Given the description of an element on the screen output the (x, y) to click on. 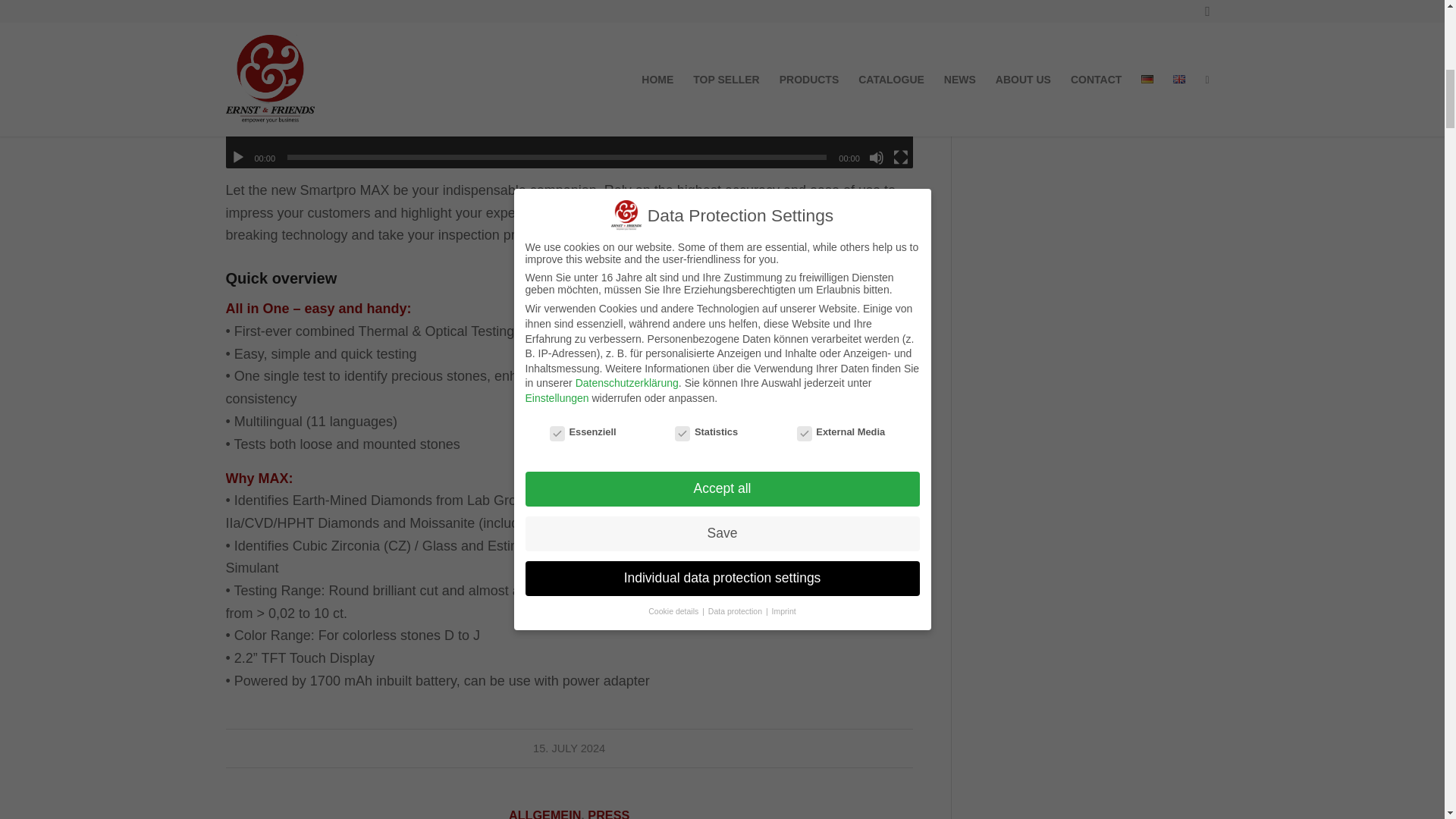
Play (238, 157)
Fullscreen (900, 157)
PRESS (608, 813)
ALLGEMEIN (544, 813)
Mute (876, 157)
